Given the description of an element on the screen output the (x, y) to click on. 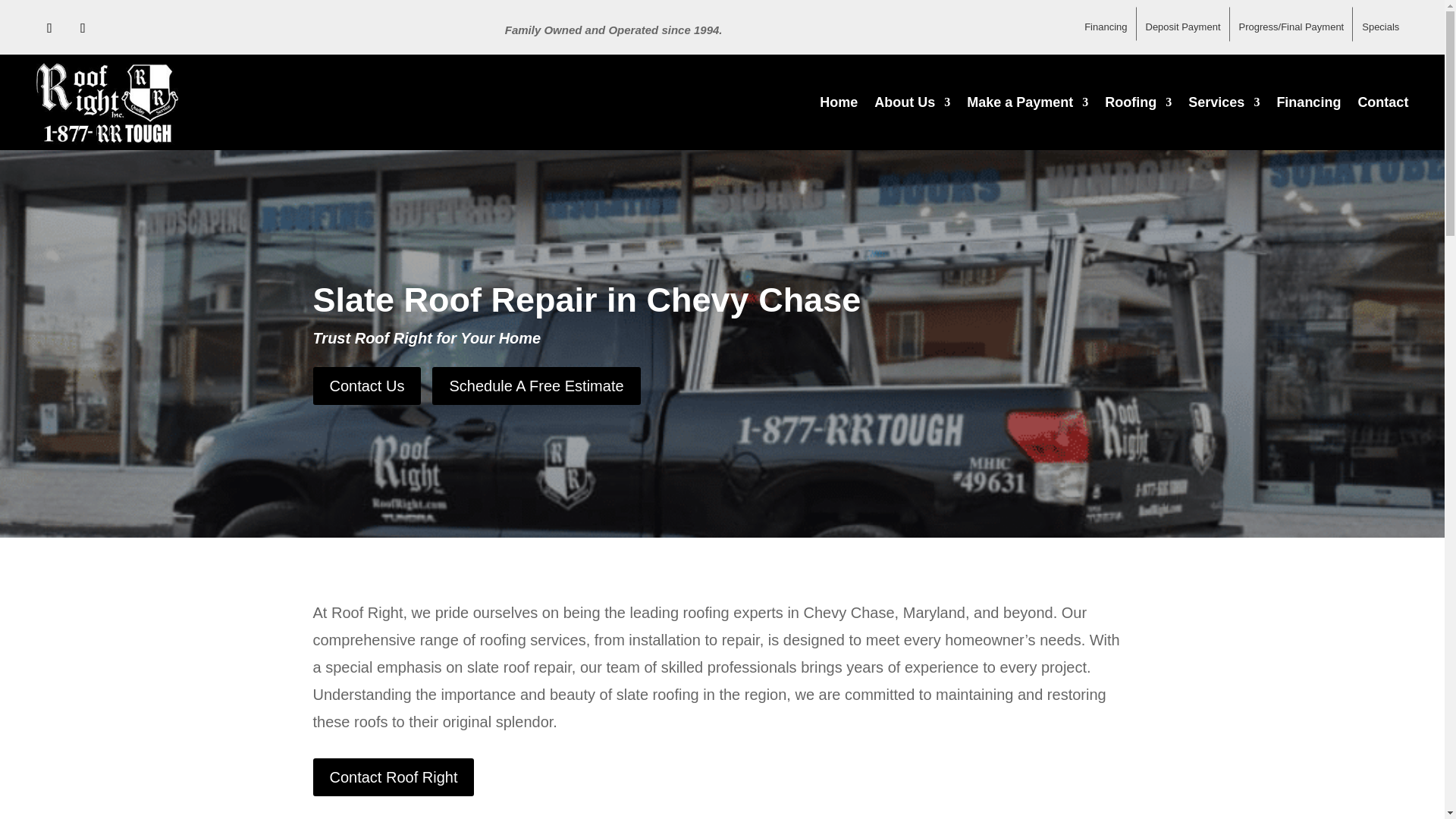
Make a Payment (1026, 102)
Specials (1379, 21)
Follow on Instagram (83, 27)
Financing (1105, 23)
Deposit Payment (1181, 23)
Follow on Facebook (50, 27)
